Given the description of an element on the screen output the (x, y) to click on. 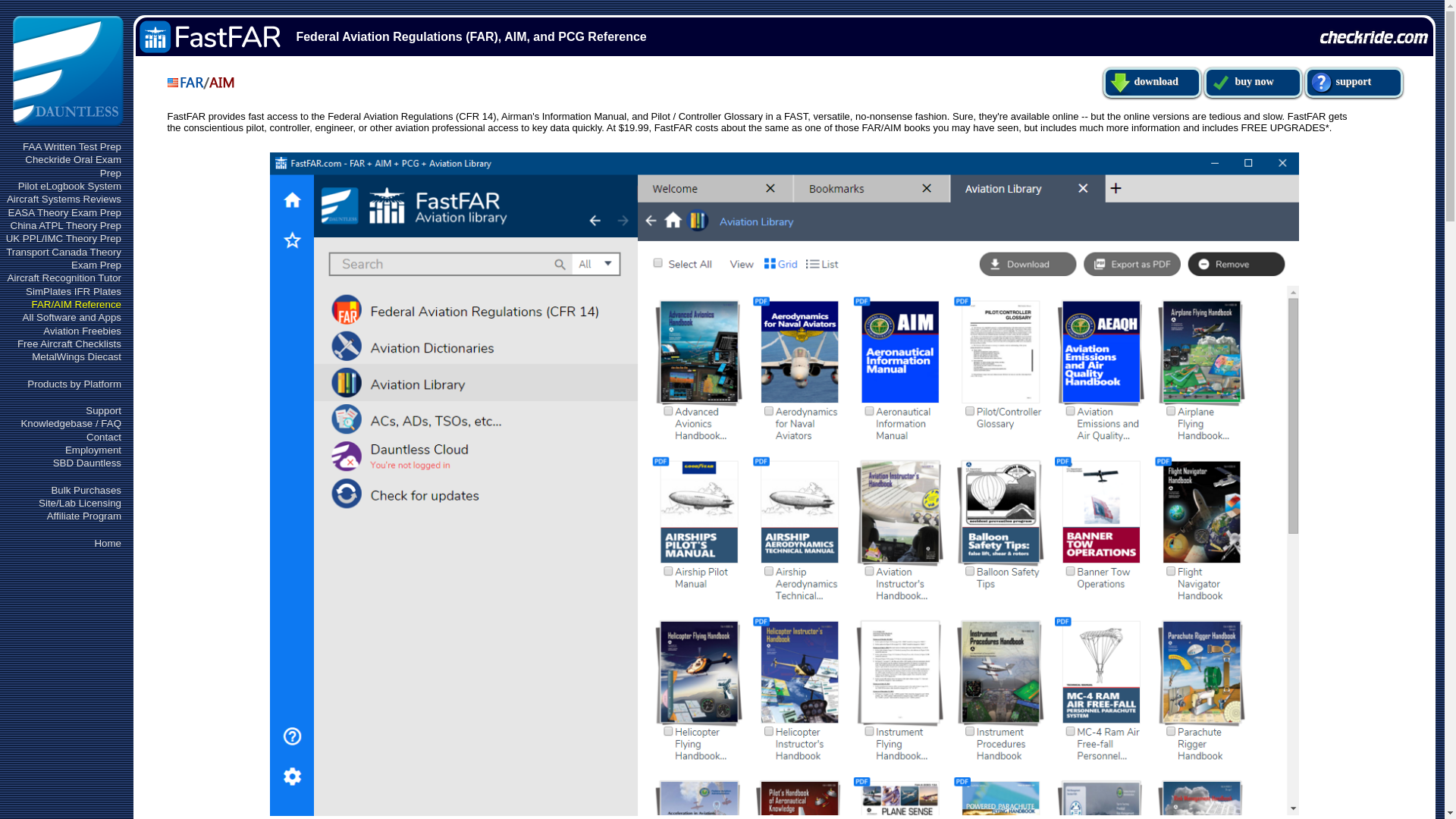
Products by Platform (73, 383)
buy now (1252, 82)
SimPlates IFR Approach Plates for Simulator Pilots (73, 291)
China ATPL Theory Prep (65, 225)
Transport Canada Theory Exam Prep (62, 258)
FAA Written Test Prep Software (71, 146)
SimPlates IFR Plates (73, 291)
Bulk Purchases (85, 490)
Aircraft Systems Reviews (63, 198)
Free Aircraft Checklists (68, 343)
More Aviation Software (71, 317)
support (1353, 82)
FAA Practical Test Oral Exam Prep (72, 165)
Aircraft Recognition Tutor (63, 277)
download (1152, 82)
